Given the description of an element on the screen output the (x, y) to click on. 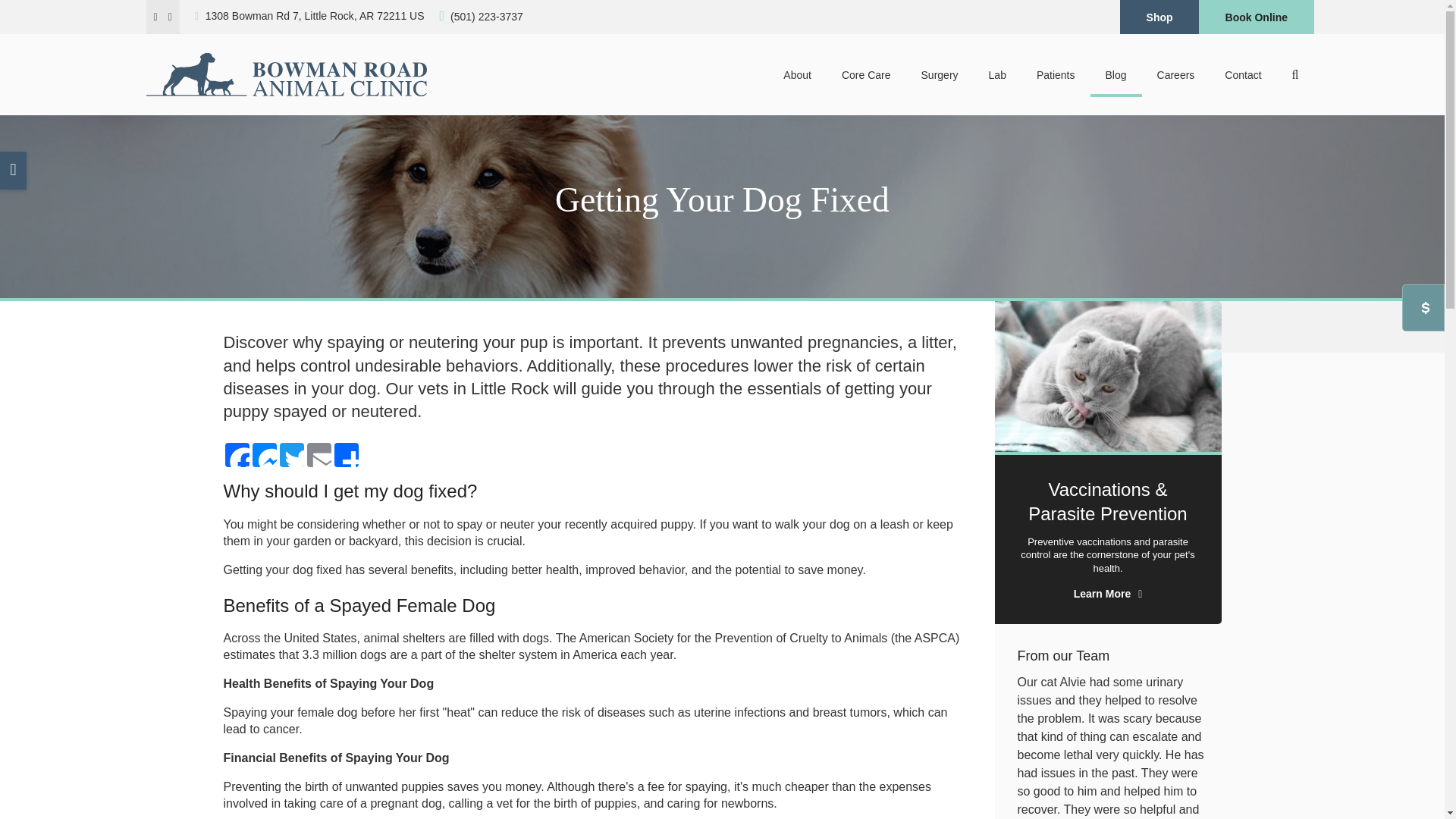
Book Online (1255, 17)
Shop (1158, 17)
